Given the description of an element on the screen output the (x, y) to click on. 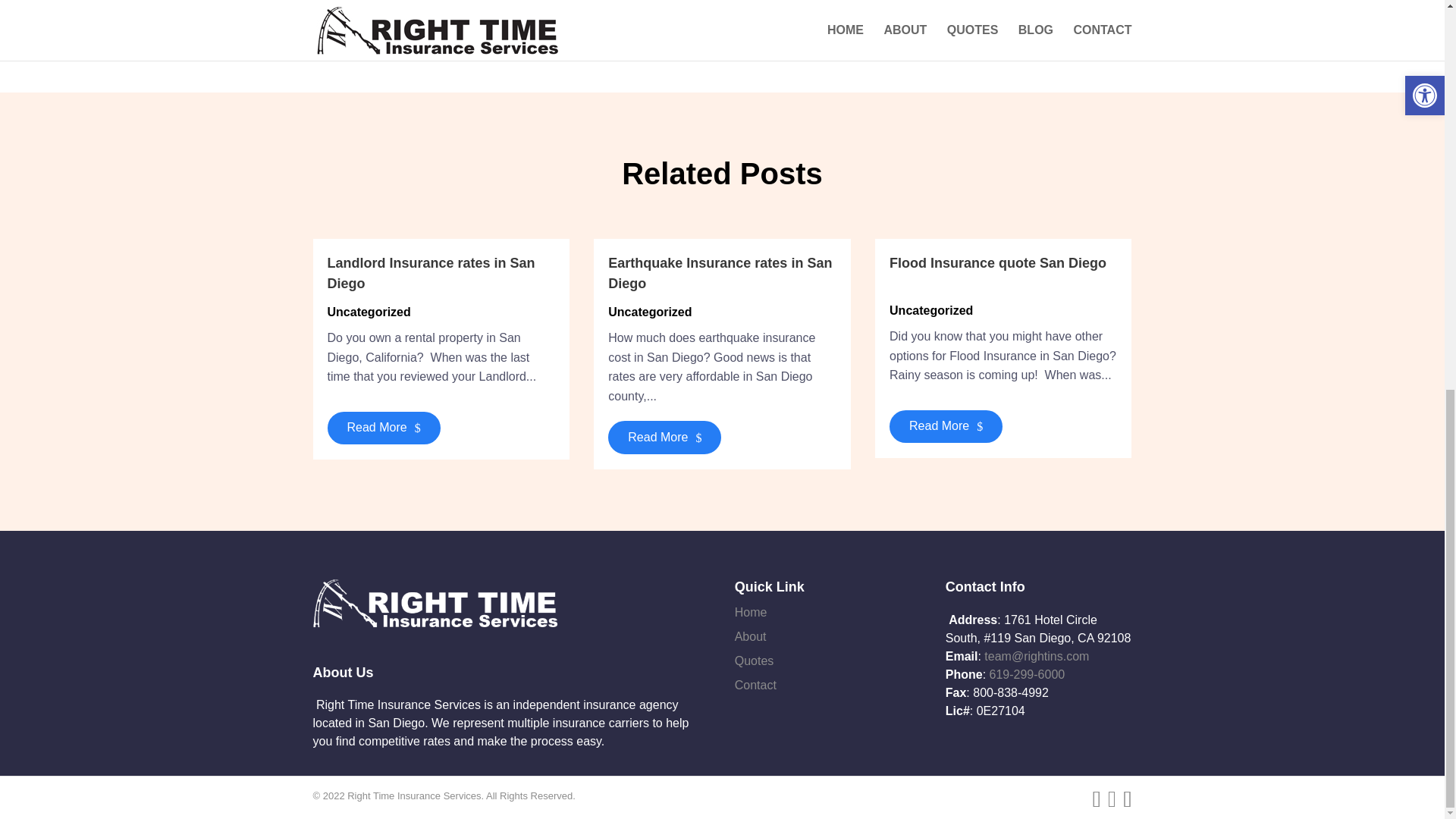
Read More (946, 426)
Flood Insurance quote San Diego (997, 263)
Earthquake Insurance rates in San Diego (719, 273)
Read More (384, 427)
Home (751, 612)
Uncategorized (649, 311)
Contact (755, 684)
Quotes (754, 660)
Uncategorized (930, 309)
About (751, 635)
Read More (664, 436)
Uncategorized (368, 311)
Landlord Insurance rates in San Diego (431, 273)
